Given the description of an element on the screen output the (x, y) to click on. 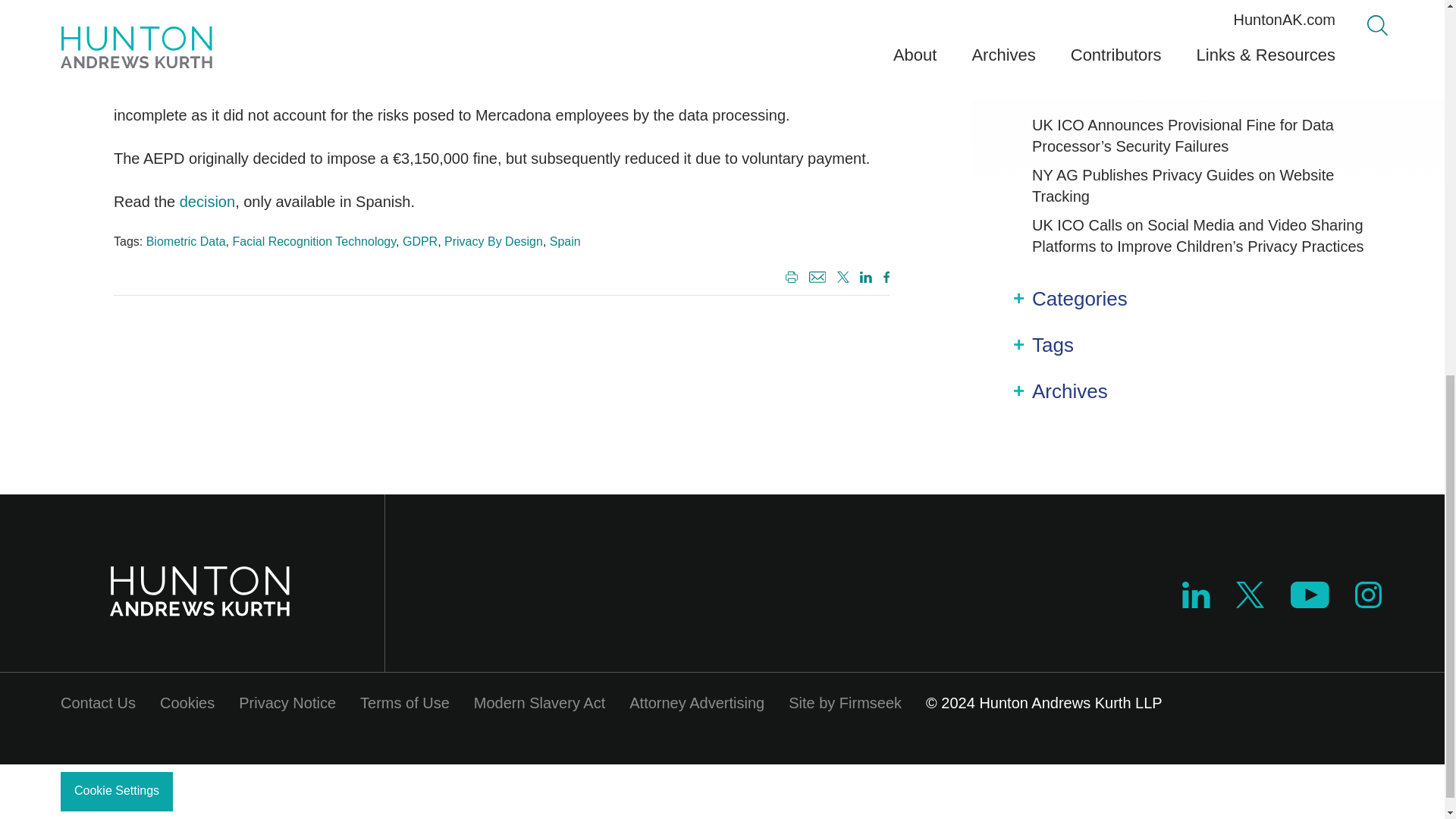
Linkedin (866, 276)
decision (206, 201)
Linkedin (1195, 602)
Biometric Data (186, 241)
Categories (1079, 299)
Print (788, 278)
Facial Recognition Technology (313, 241)
Linkedin (1195, 594)
Instagram (1368, 594)
GDPR (420, 241)
